Given the description of an element on the screen output the (x, y) to click on. 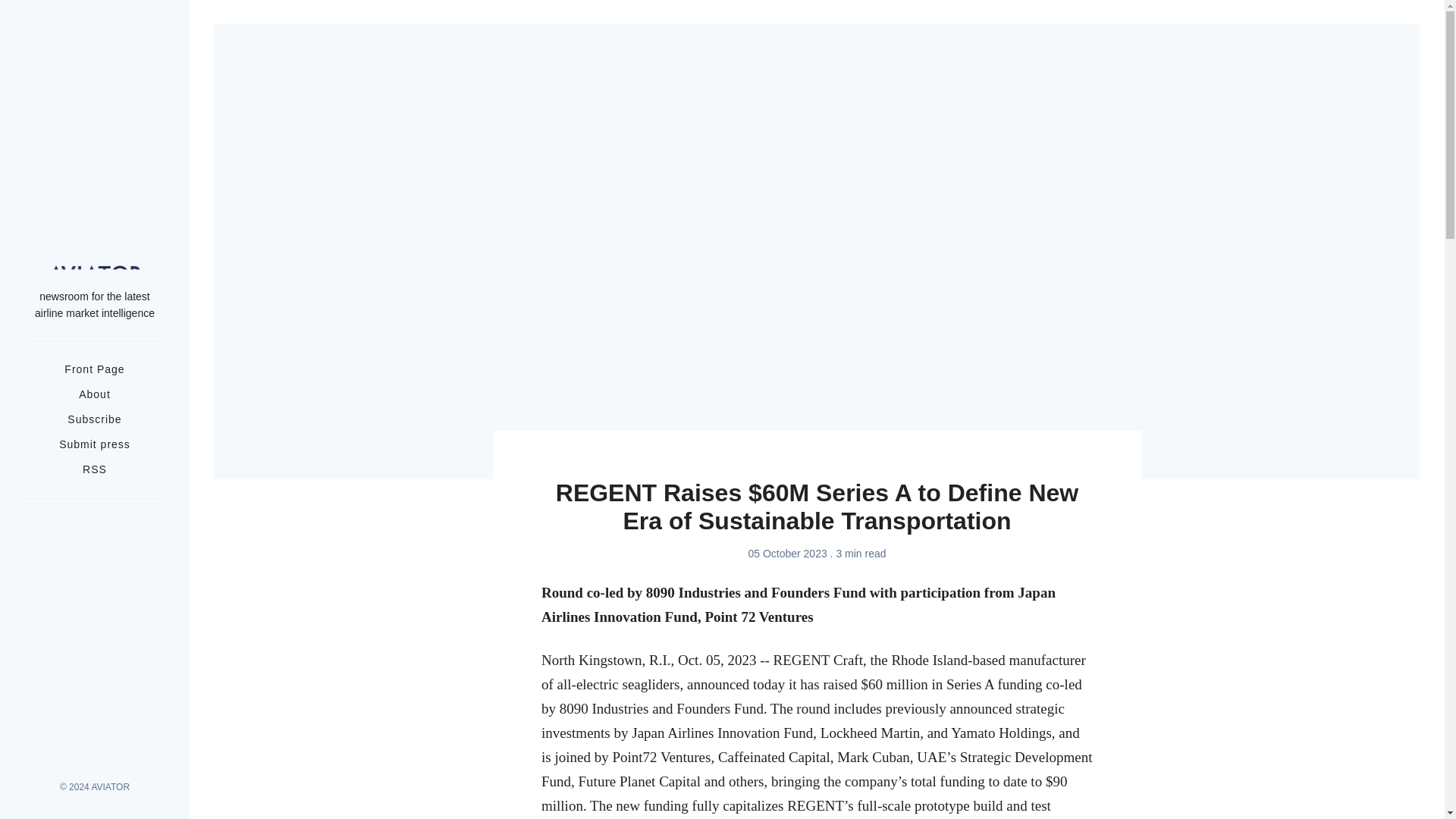
RSS (94, 469)
Submit press (95, 444)
About (94, 394)
Front Page (93, 369)
Subscribe (93, 419)
